Given the description of an element on the screen output the (x, y) to click on. 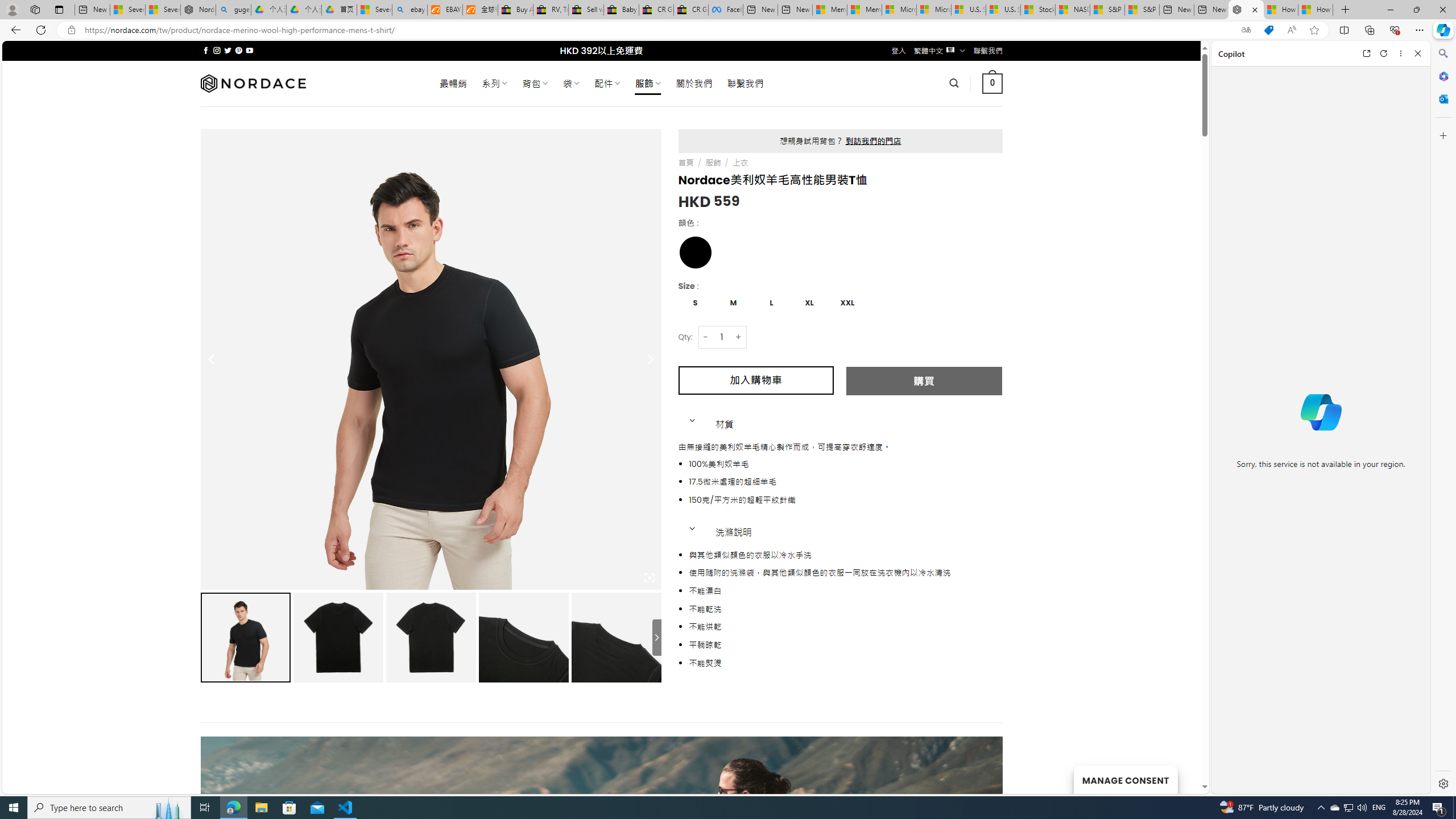
MANAGE CONSENT (1125, 779)
Nordace (252, 83)
Facebook (725, 9)
RV, Trailer & Camper Steps & Ladders for sale | eBay (550, 9)
